Given the description of an element on the screen output the (x, y) to click on. 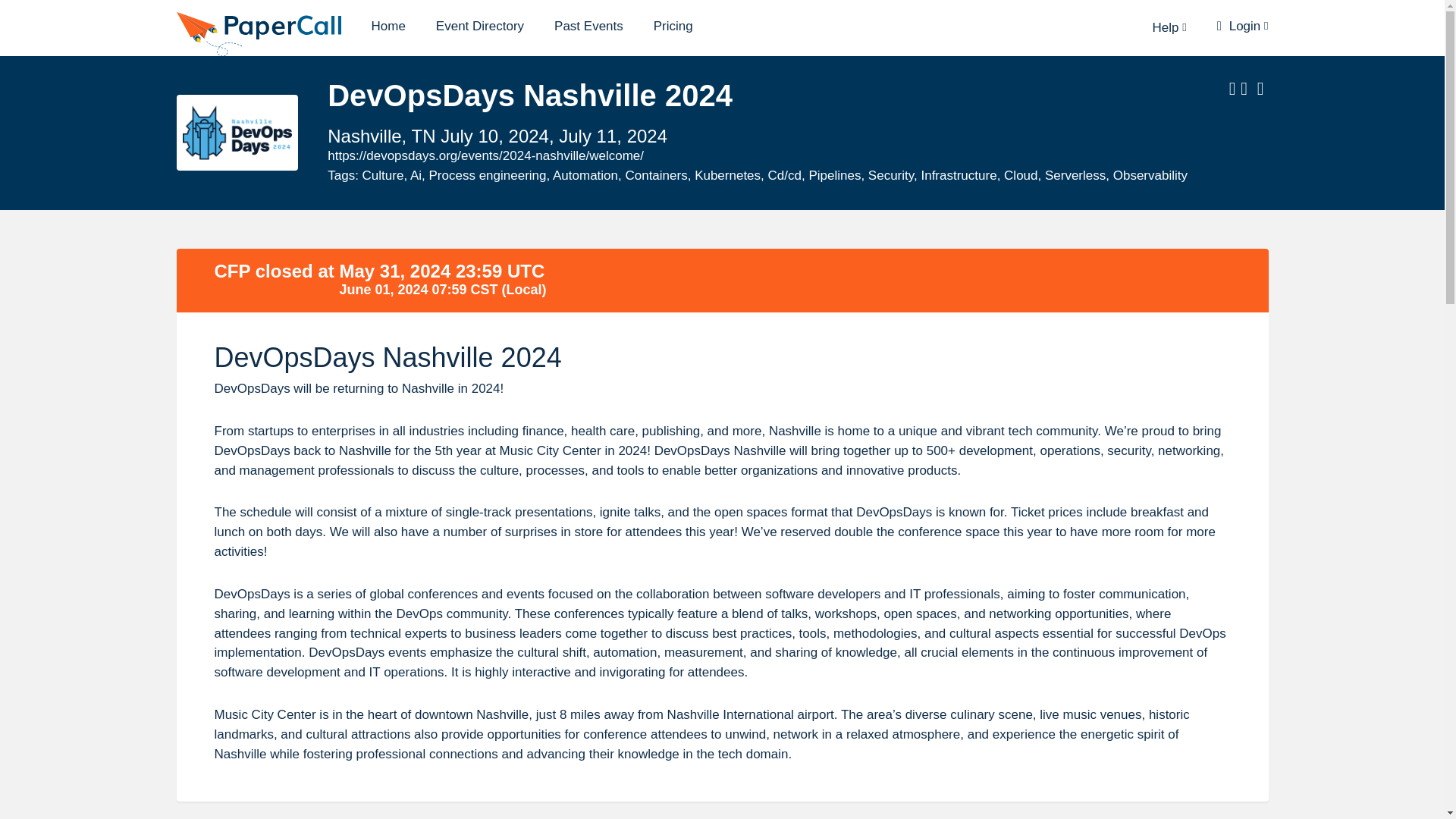
Event Directory (479, 25)
Observability (1150, 175)
Serverless (1075, 175)
Home (388, 25)
Pricing (673, 25)
Past Events (588, 25)
Kubernetes (727, 175)
Culture (383, 175)
Cloud (1020, 175)
Login (1242, 25)
Help (1169, 26)
Infrastructure (957, 175)
Containers (655, 175)
June 1, 2024 at 7:59am CST (418, 289)
Pipelines (834, 175)
